Given the description of an element on the screen output the (x, y) to click on. 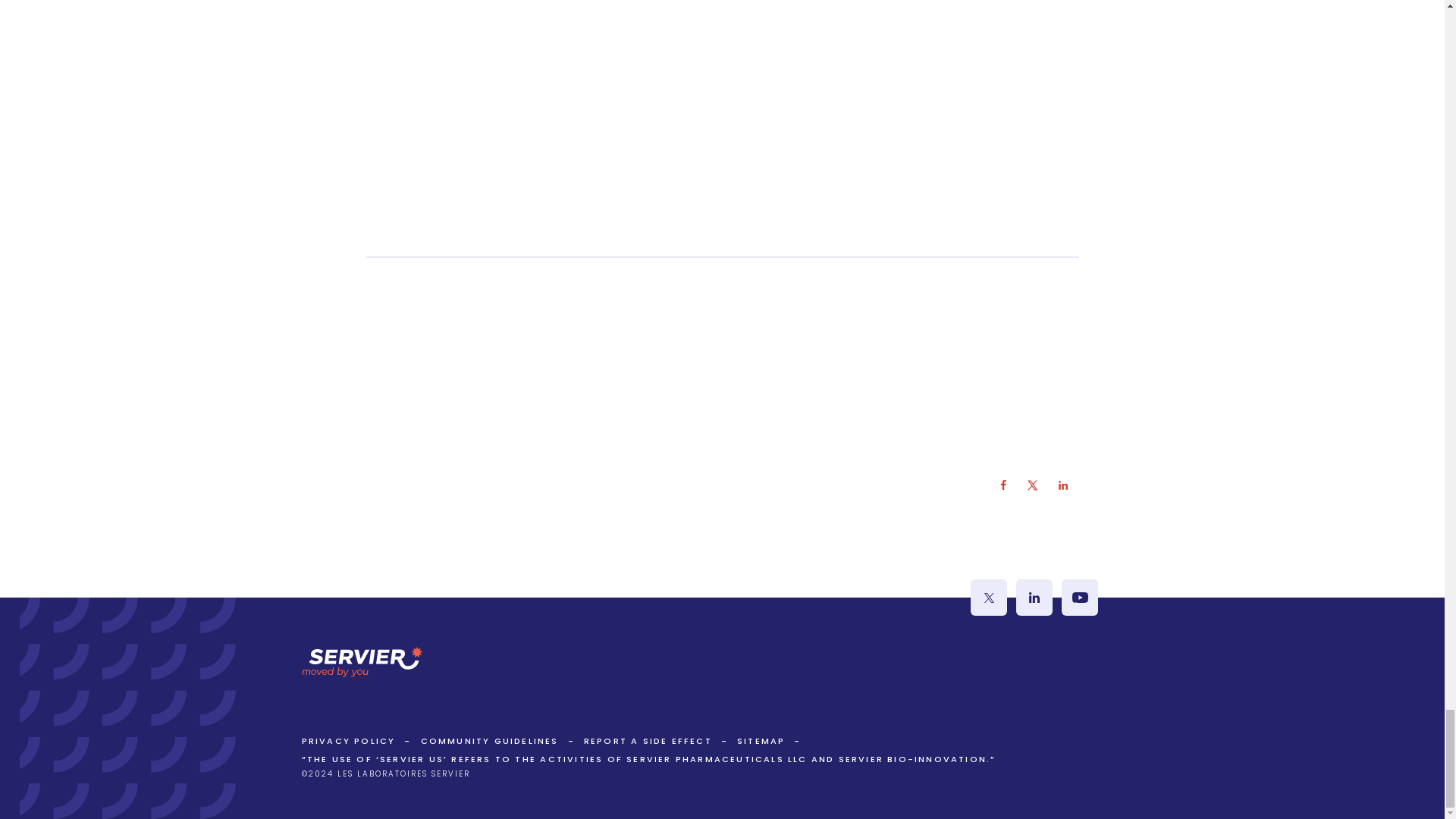
Share on Facebook (1002, 485)
Report a quality defect to Servier (647, 740)
Share on X (1032, 485)
Share on LinkedIn (1063, 485)
